Given the description of an element on the screen output the (x, y) to click on. 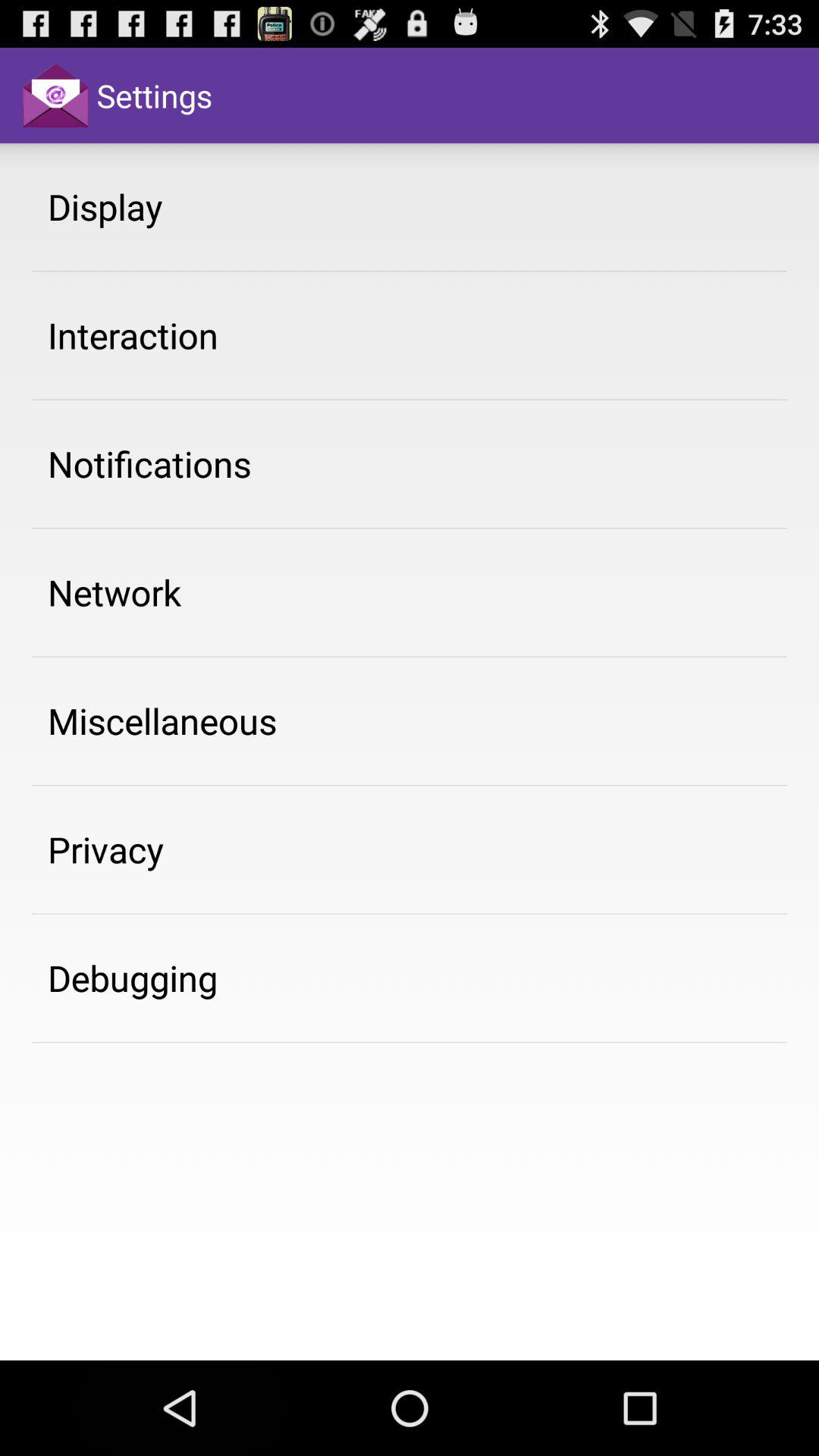
choose the item above the privacy item (161, 720)
